Given the description of an element on the screen output the (x, y) to click on. 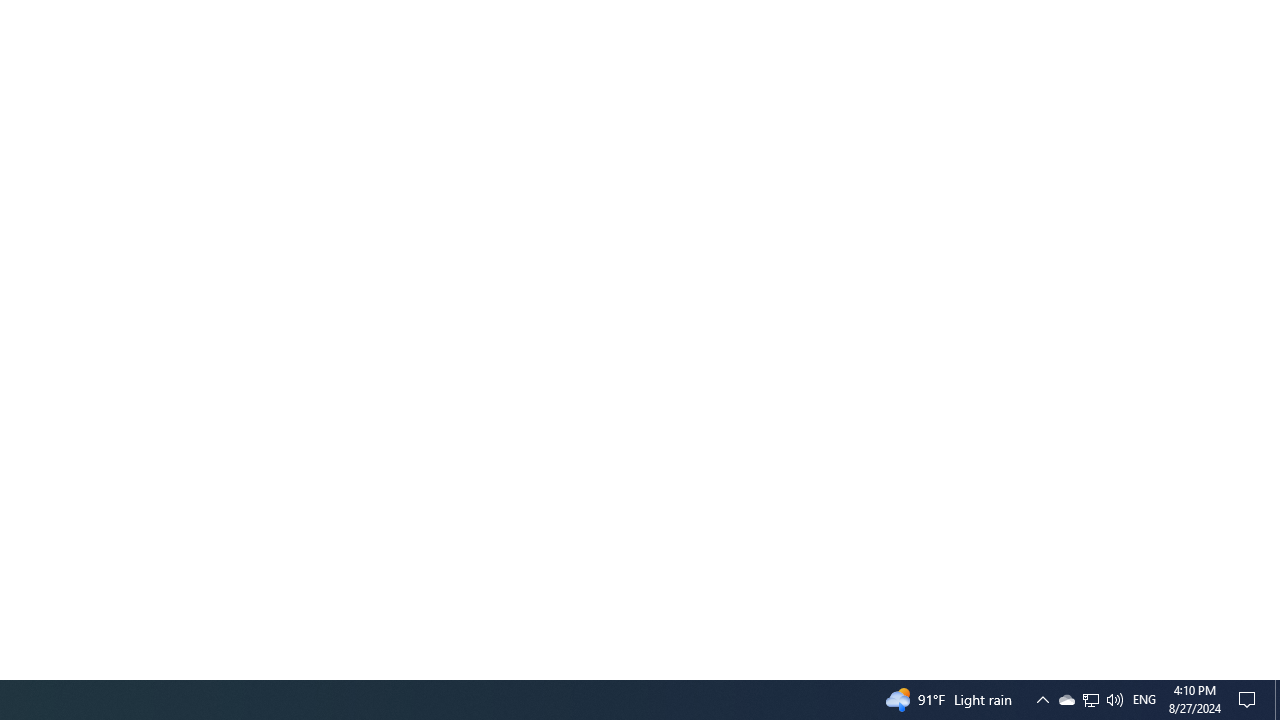
Action Center, No new notifications (1250, 699)
Tray Input Indicator - English (United States) (1144, 699)
Show desktop (1277, 699)
Notification Chevron (1042, 699)
User Promoted Notification Area (1091, 699)
Q2790: 100% (1066, 699)
